Given the description of an element on the screen output the (x, y) to click on. 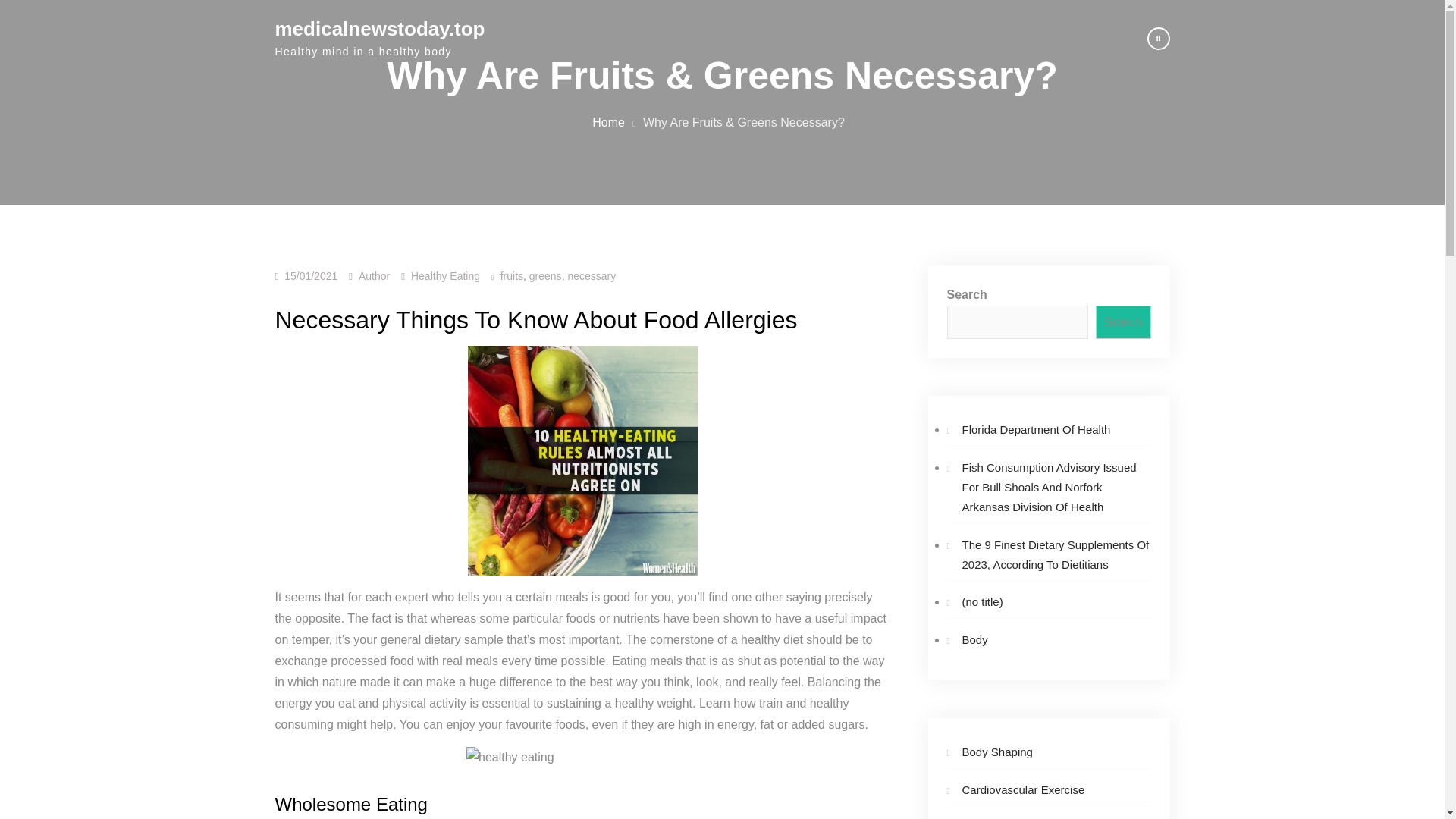
Home (608, 121)
greens (545, 275)
Search (1123, 322)
Body Shaping (996, 751)
medicalnewstoday.top (379, 28)
Cardiovascular Exercise (1022, 789)
Florida Department Of Health (1034, 429)
Body (973, 639)
Healthy Eating (445, 275)
